Given the description of an element on the screen output the (x, y) to click on. 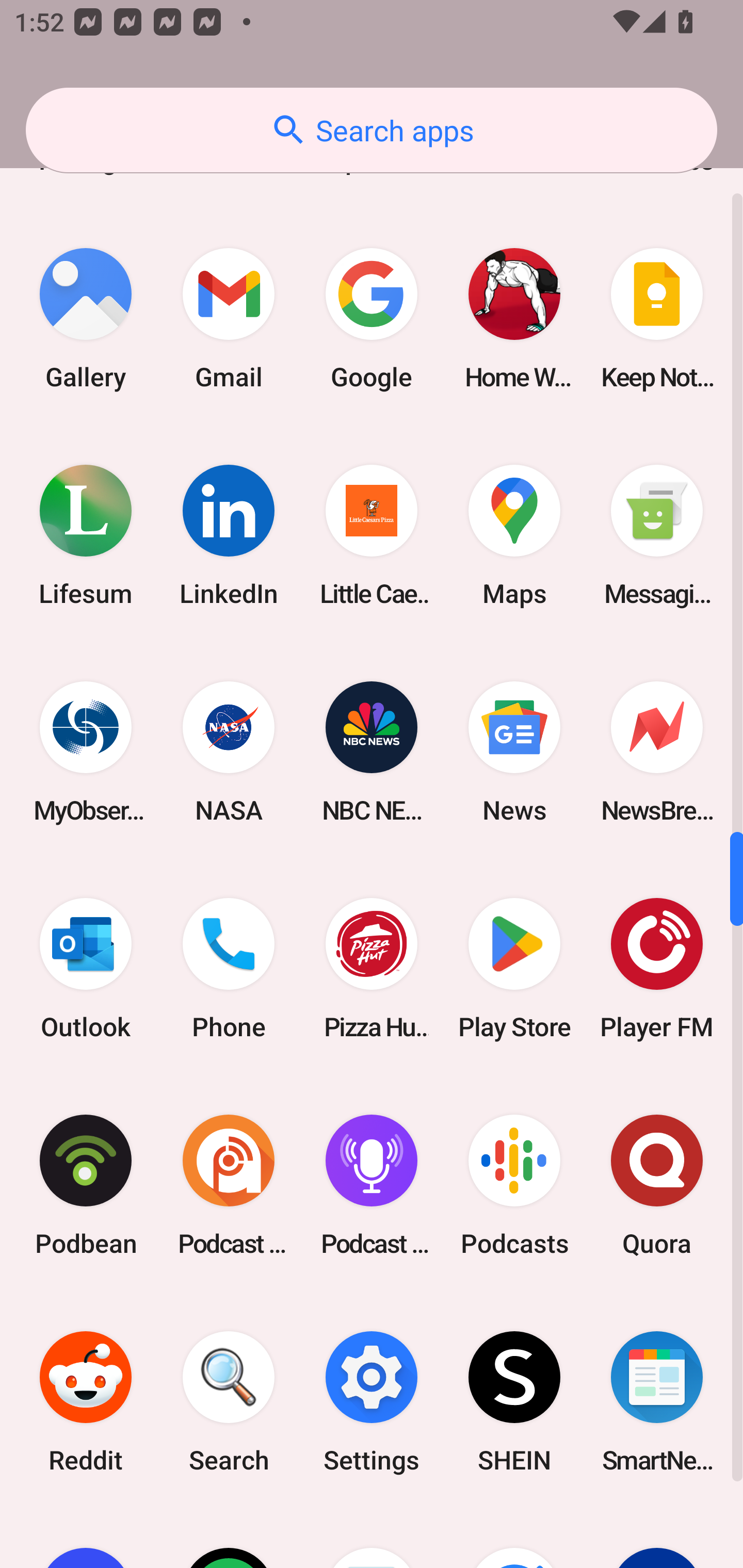
  Search apps (371, 130)
Gallery (85, 318)
Gmail (228, 318)
Google (371, 318)
Home Workout (514, 318)
Keep Notes (656, 318)
Lifesum (85, 535)
LinkedIn (228, 535)
Little Caesars Pizza (371, 535)
Maps (514, 535)
Messaging (656, 535)
MyObservatory (85, 752)
NASA (228, 752)
NBC NEWS (371, 752)
News (514, 752)
NewsBreak (656, 752)
Outlook (85, 968)
Phone (228, 968)
Pizza Hut HK & Macau (371, 968)
Play Store (514, 968)
Player FM (656, 968)
Podbean (85, 1185)
Podcast Addict (228, 1185)
Podcast Player (371, 1185)
Podcasts (514, 1185)
Quora (656, 1185)
Reddit (85, 1401)
Search (228, 1401)
Settings (371, 1401)
SHEIN (514, 1401)
SmartNews (656, 1401)
